Given the description of an element on the screen output the (x, y) to click on. 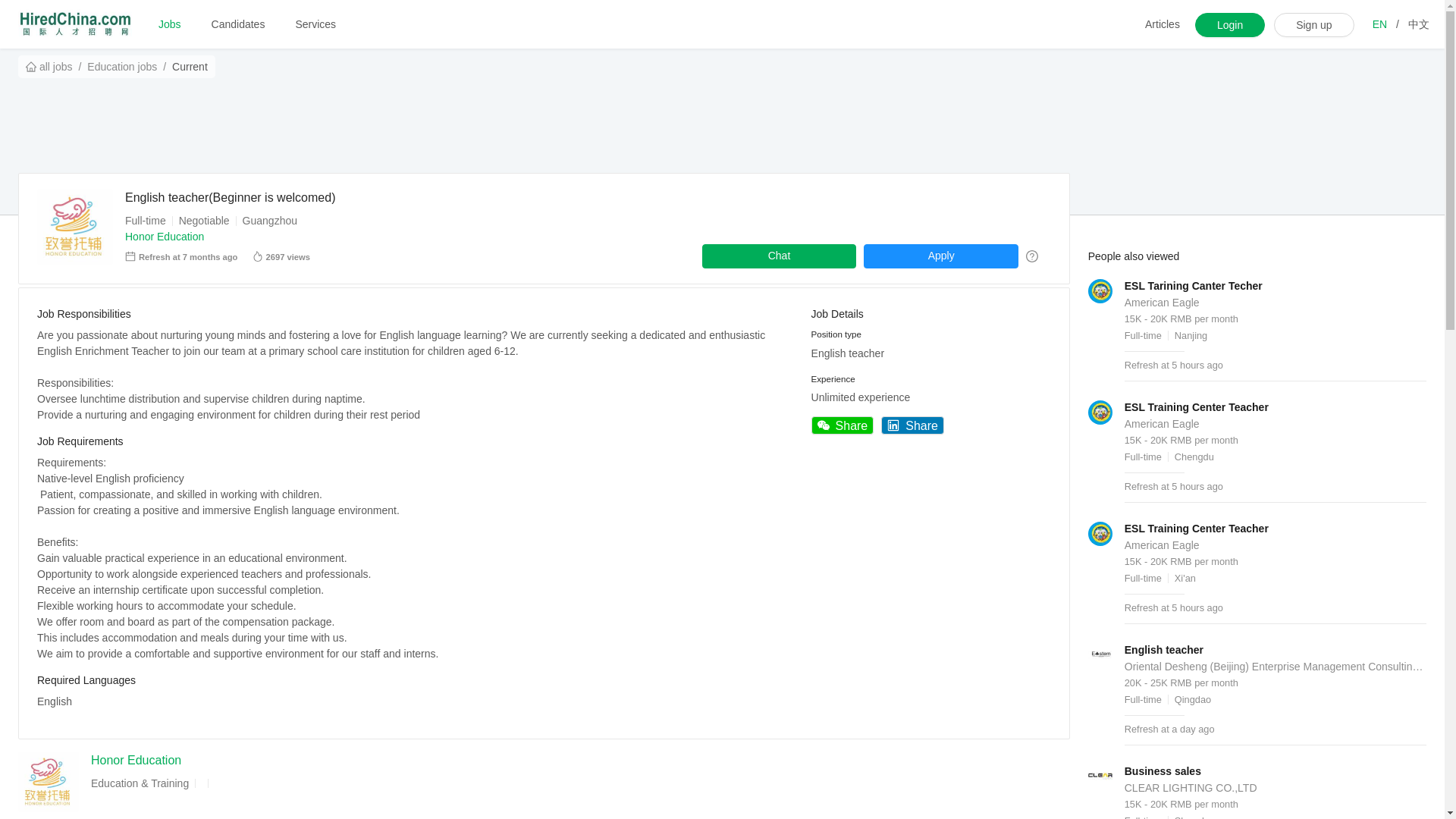
Apply (940, 256)
all jobs (48, 66)
Login (1230, 24)
Sign up (1314, 24)
Candidates (237, 24)
Education jobs (122, 66)
Login (1230, 24)
Share (842, 425)
Sign up (1313, 24)
Chat (779, 256)
Honor Education (135, 759)
all jobs (48, 66)
Share (911, 425)
Honor Education (164, 236)
